Given the description of an element on the screen output the (x, y) to click on. 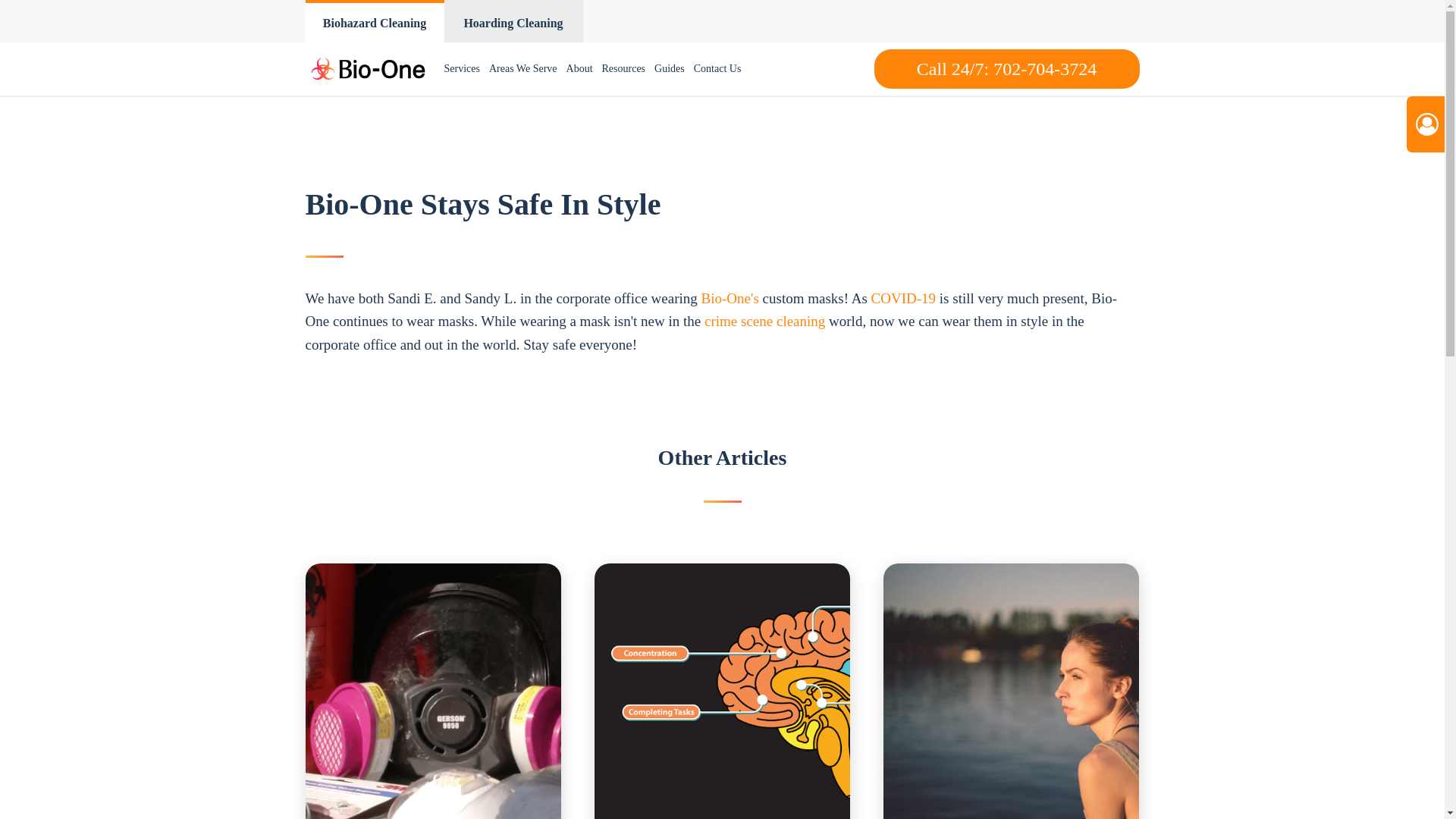
Guides (668, 68)
Hoarding Cleaning (513, 21)
Services (461, 68)
About (579, 68)
Contact Us (716, 68)
Resources (623, 68)
Biohazard Cleaning (374, 21)
Areas We Serve (523, 68)
